Given the description of an element on the screen output the (x, y) to click on. 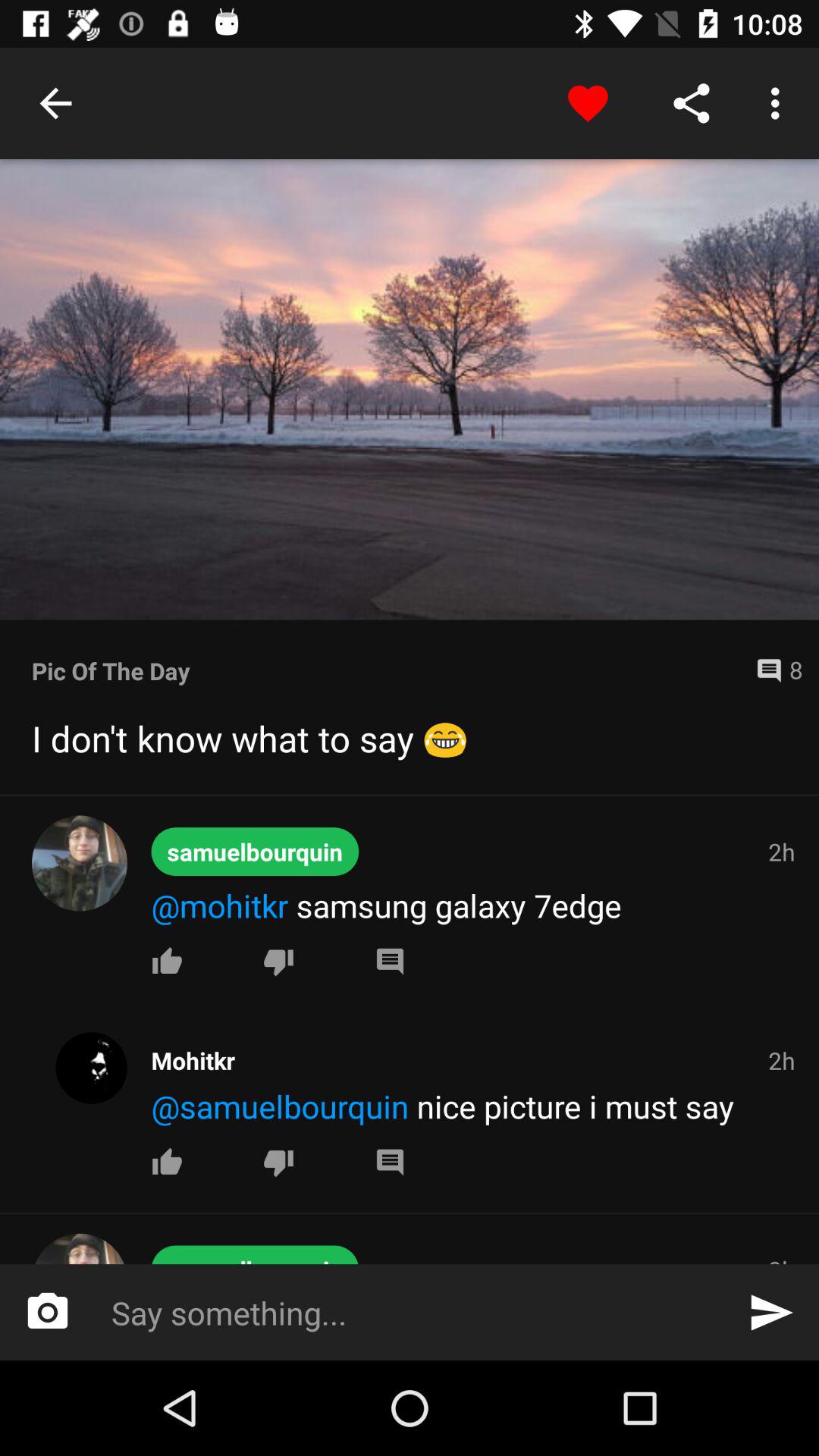
select the text below mohitkr (475, 1105)
click the send button on the web page (771, 1312)
click on the like icon below mohitkr (167, 960)
click on the button beside share button (779, 103)
select the 2nd like icon on the web page (167, 1162)
move to the text above first like button from the top of the page (475, 905)
